Given the description of an element on the screen output the (x, y) to click on. 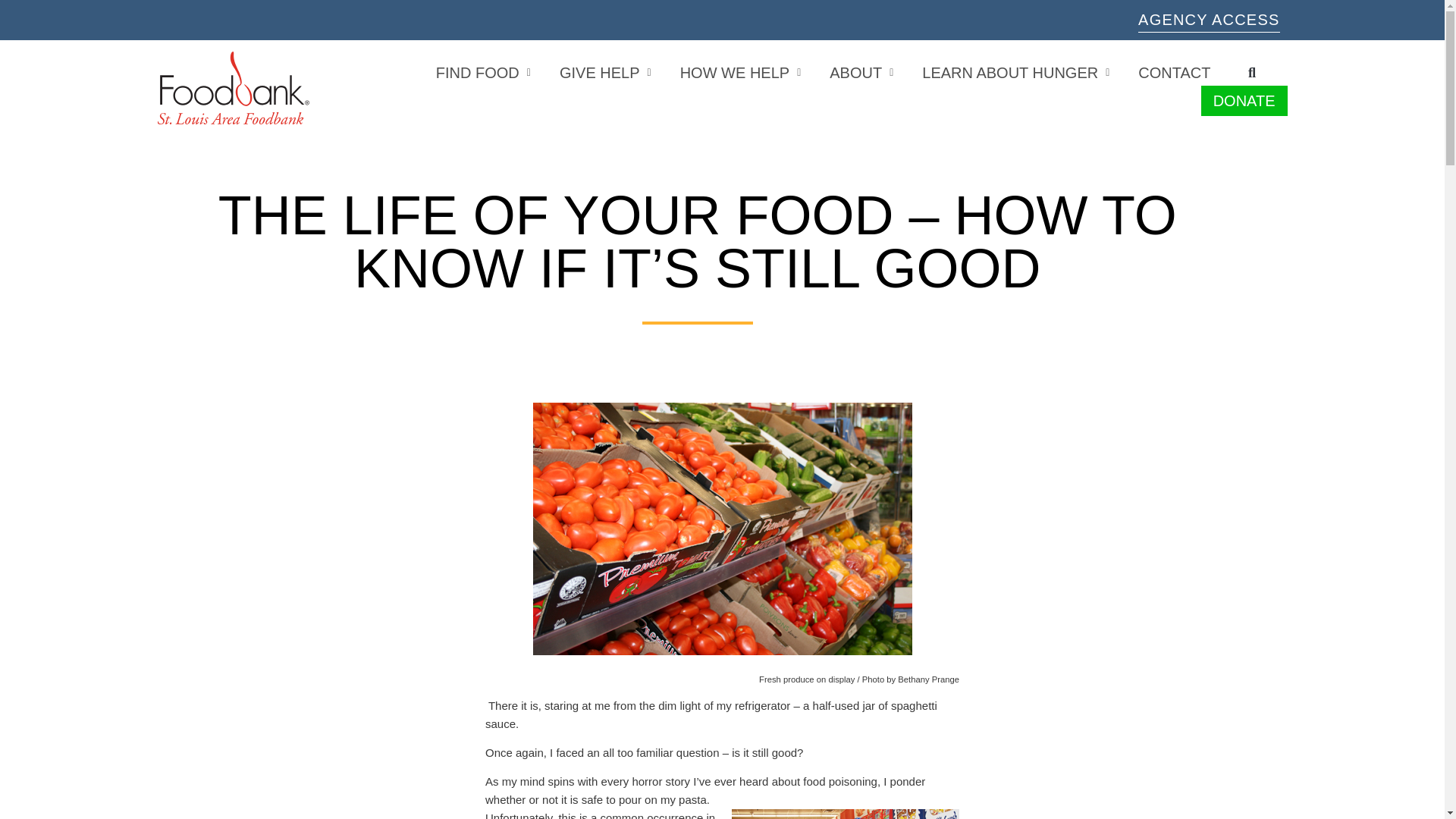
HOW WE HELP (740, 72)
GIVE HELP (604, 72)
ABOUT (861, 72)
FIND FOOD (483, 72)
AGENCY ACCESS (1208, 19)
